Given the description of an element on the screen output the (x, y) to click on. 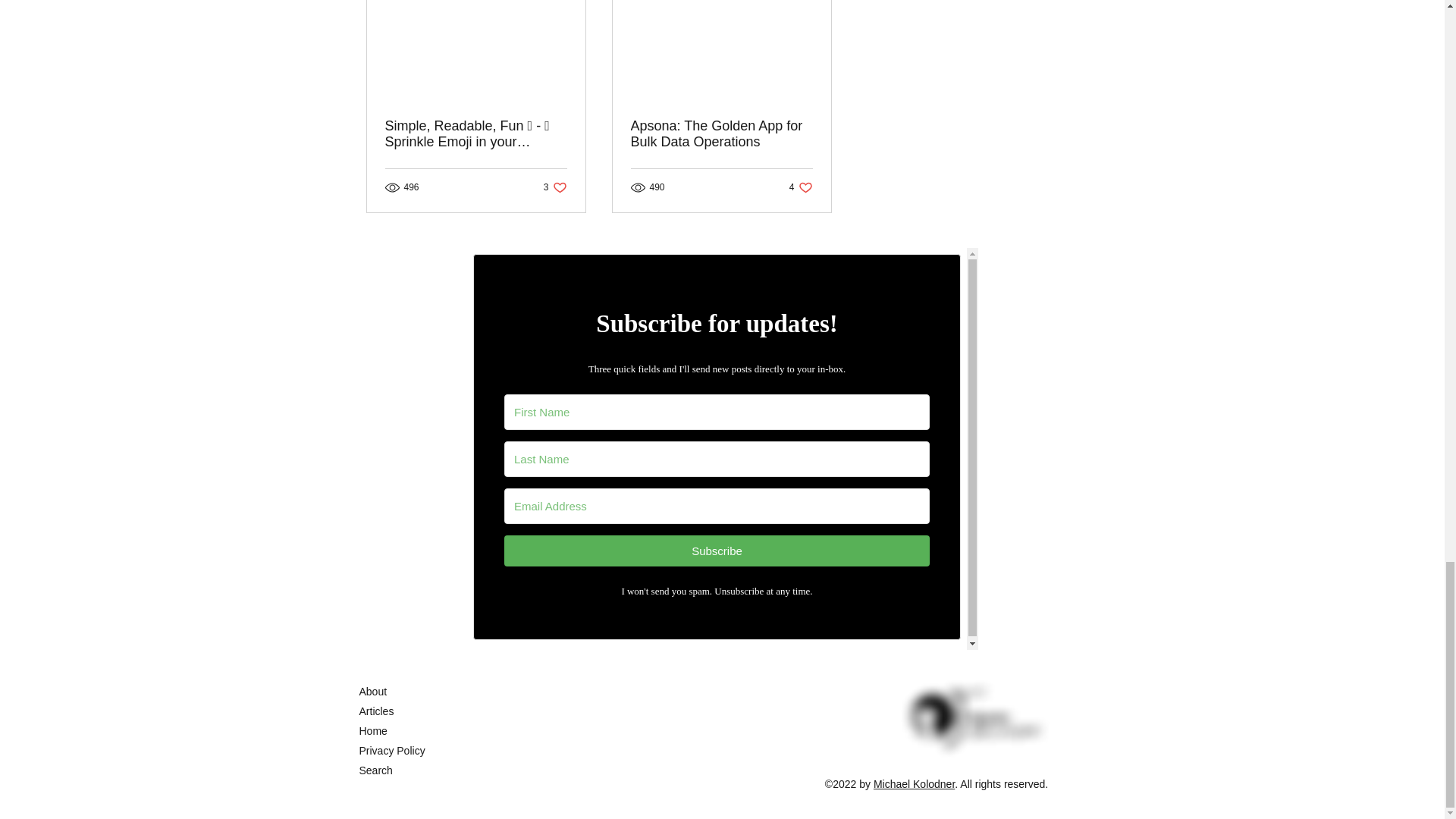
Apsona: The Golden App for Bulk Data Operations (721, 133)
Home (373, 730)
Privacy Policy (392, 750)
About (373, 691)
Michael Kolodner (914, 784)
Articles (376, 711)
Search (555, 187)
Subscription Form (376, 770)
